Given the description of an element on the screen output the (x, y) to click on. 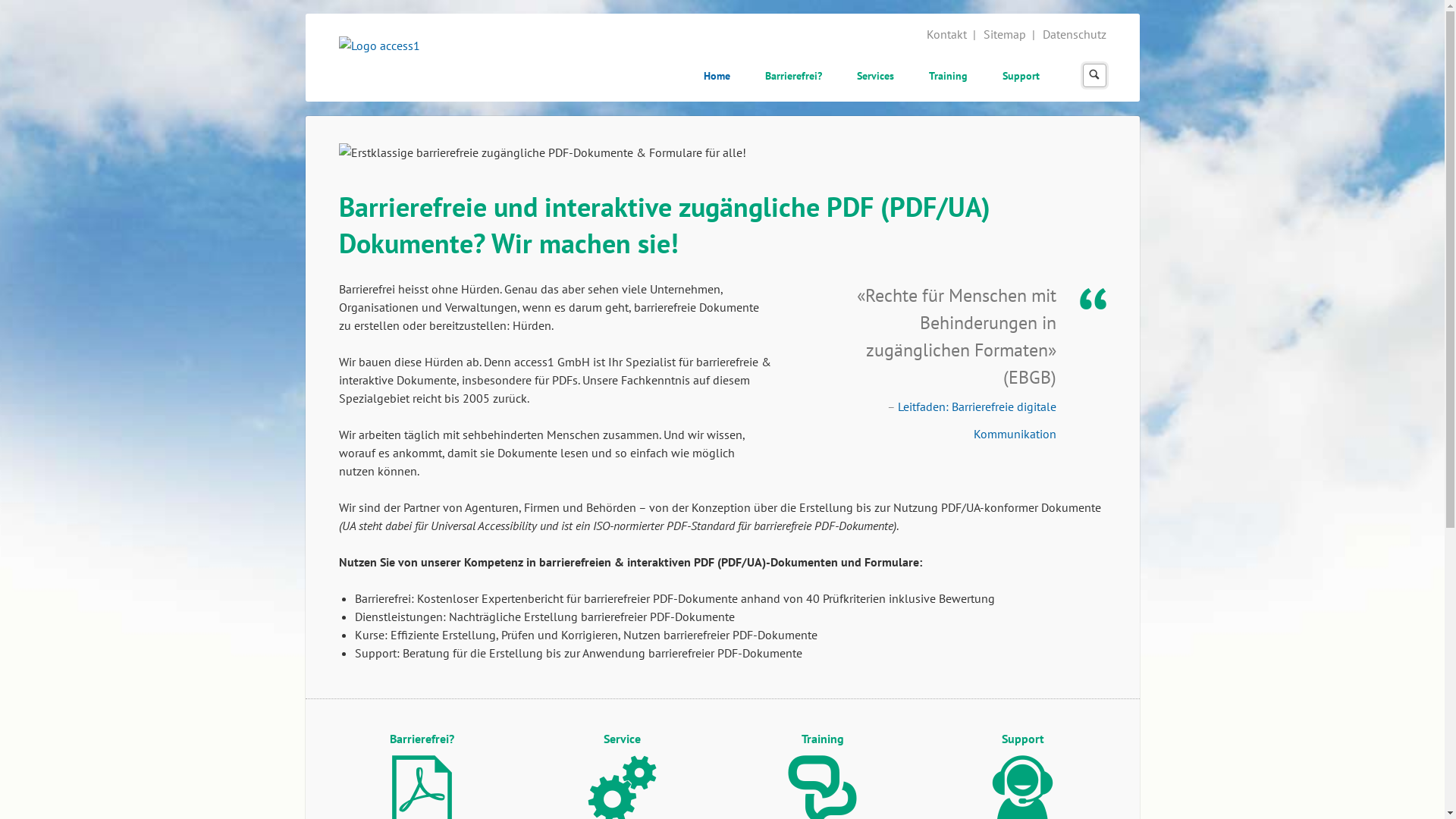
Leitfaden: Barrierefreie digitale Kommunikation Element type: text (976, 419)
Sitemap  | Element type: text (1009, 33)
Services Element type: text (875, 77)
Home Element type: text (716, 77)
Support Element type: text (1020, 77)
Datenschutz Element type: text (1073, 33)
Training Element type: text (947, 77)
Kontakt  | Element type: text (952, 33)
Barrierefrei? Element type: text (793, 77)
  Element type: text (1038, 61)
Suchen Element type: text (1093, 75)
